Given the description of an element on the screen output the (x, y) to click on. 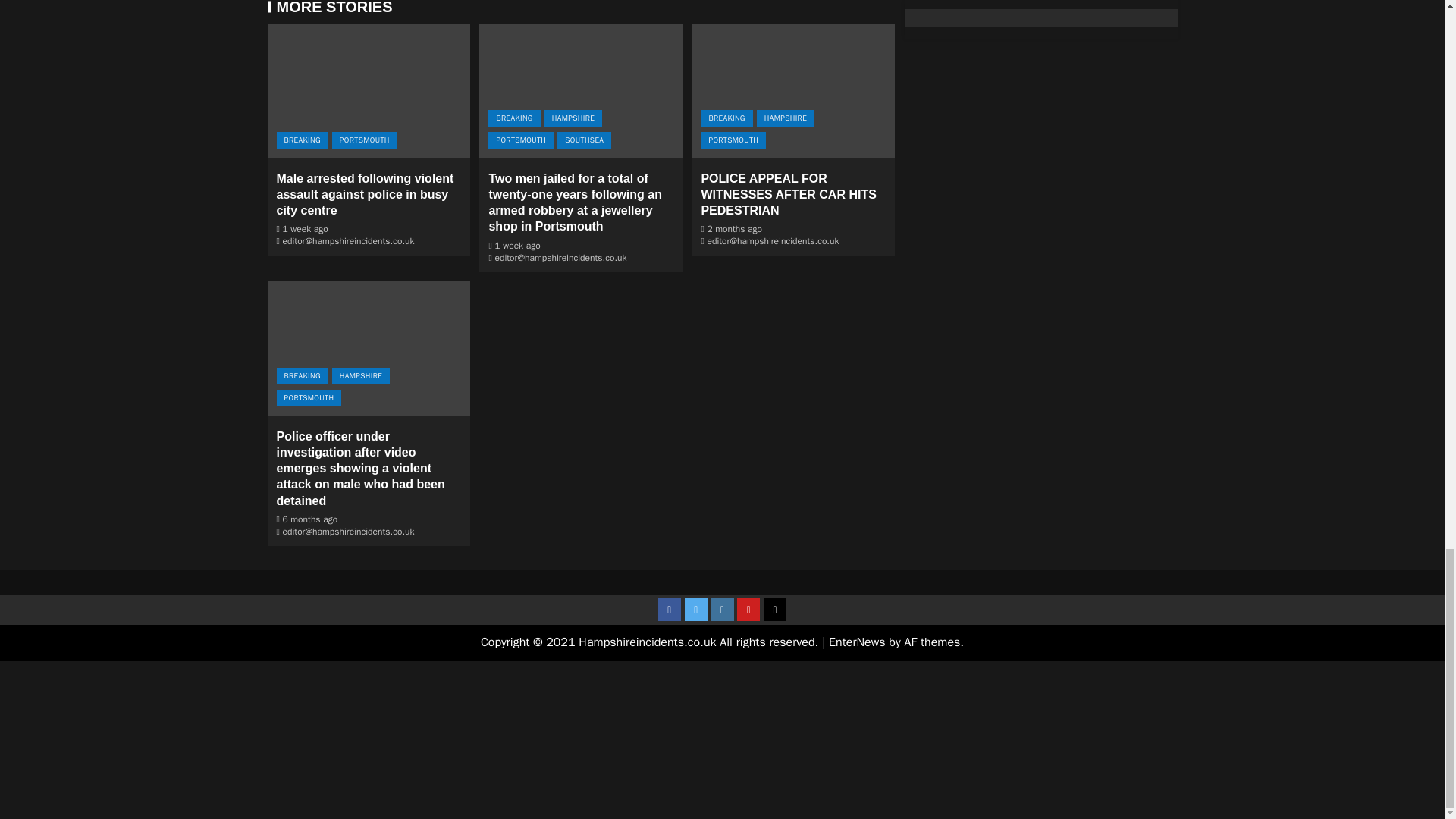
HAMPSHIRE (573, 117)
PORTSMOUTH (364, 139)
BREAKING (513, 117)
BREAKING (301, 139)
PORTSMOUTH (520, 139)
